Given the description of an element on the screen output the (x, y) to click on. 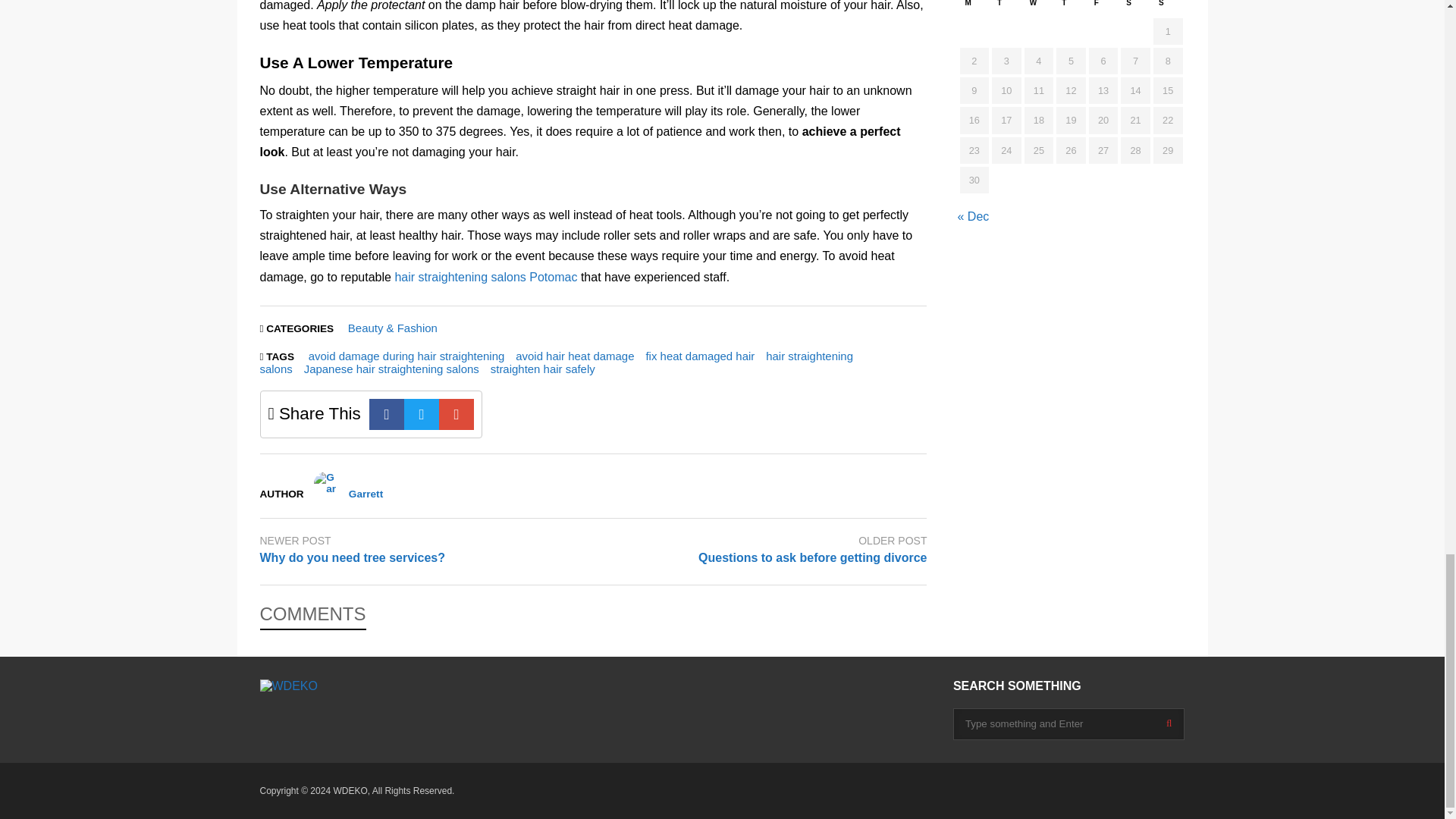
hair straightening salons Potomac (485, 277)
Twitter (421, 413)
Google-plus (456, 413)
Facebook (386, 413)
